Given the description of an element on the screen output the (x, y) to click on. 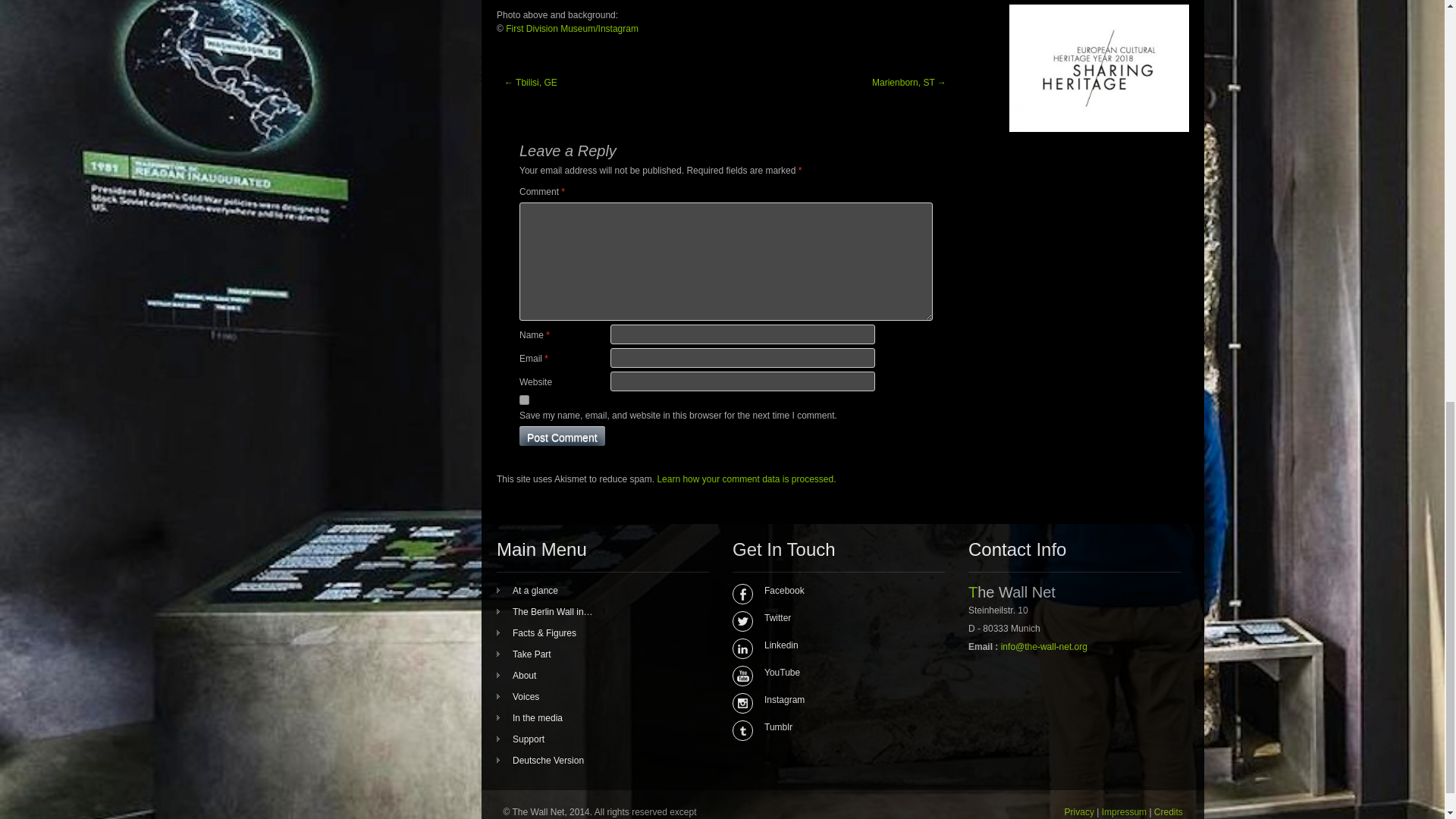
Post Comment (562, 435)
yes (524, 399)
Instagram (832, 699)
Tumblr (832, 726)
Facebook (832, 590)
YouTube (832, 672)
Linkedin (832, 644)
Twitter (832, 617)
